Given the description of an element on the screen output the (x, y) to click on. 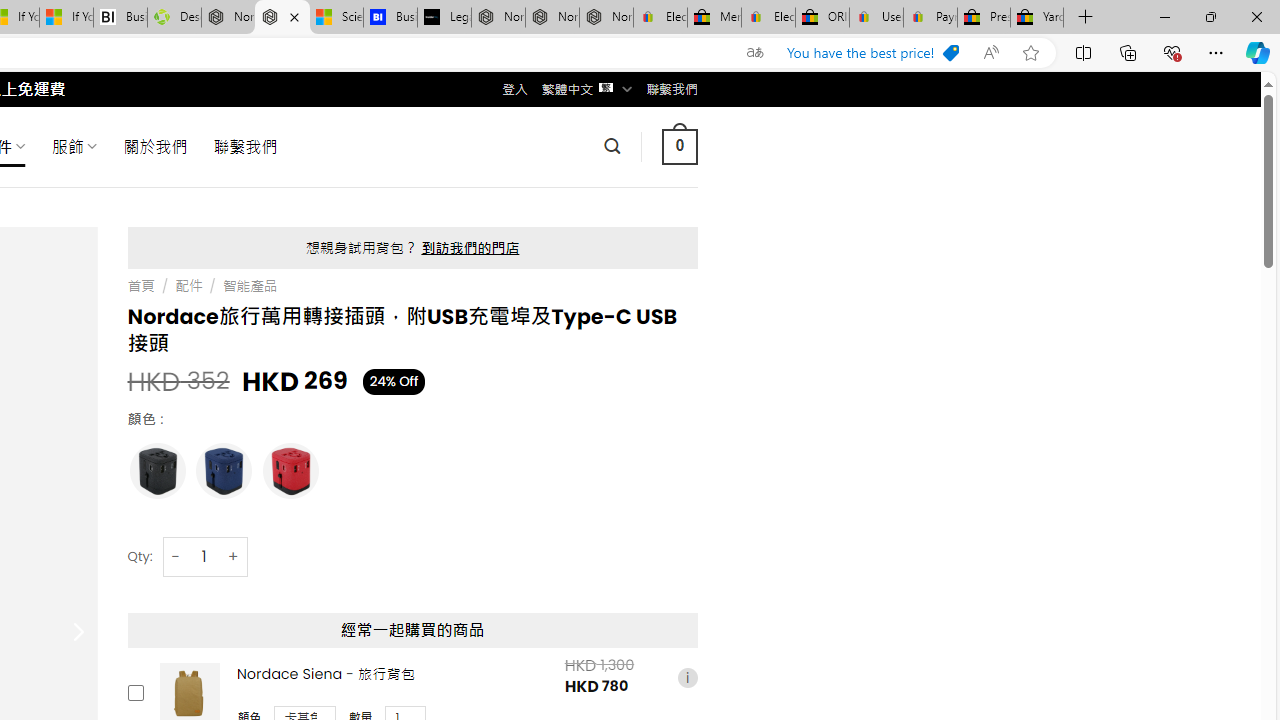
Payments Terms of Use | eBay.com (930, 17)
Show translate options (754, 53)
User Privacy Notice | eBay (875, 17)
Add this product to cart (134, 692)
